Given the description of an element on the screen output the (x, y) to click on. 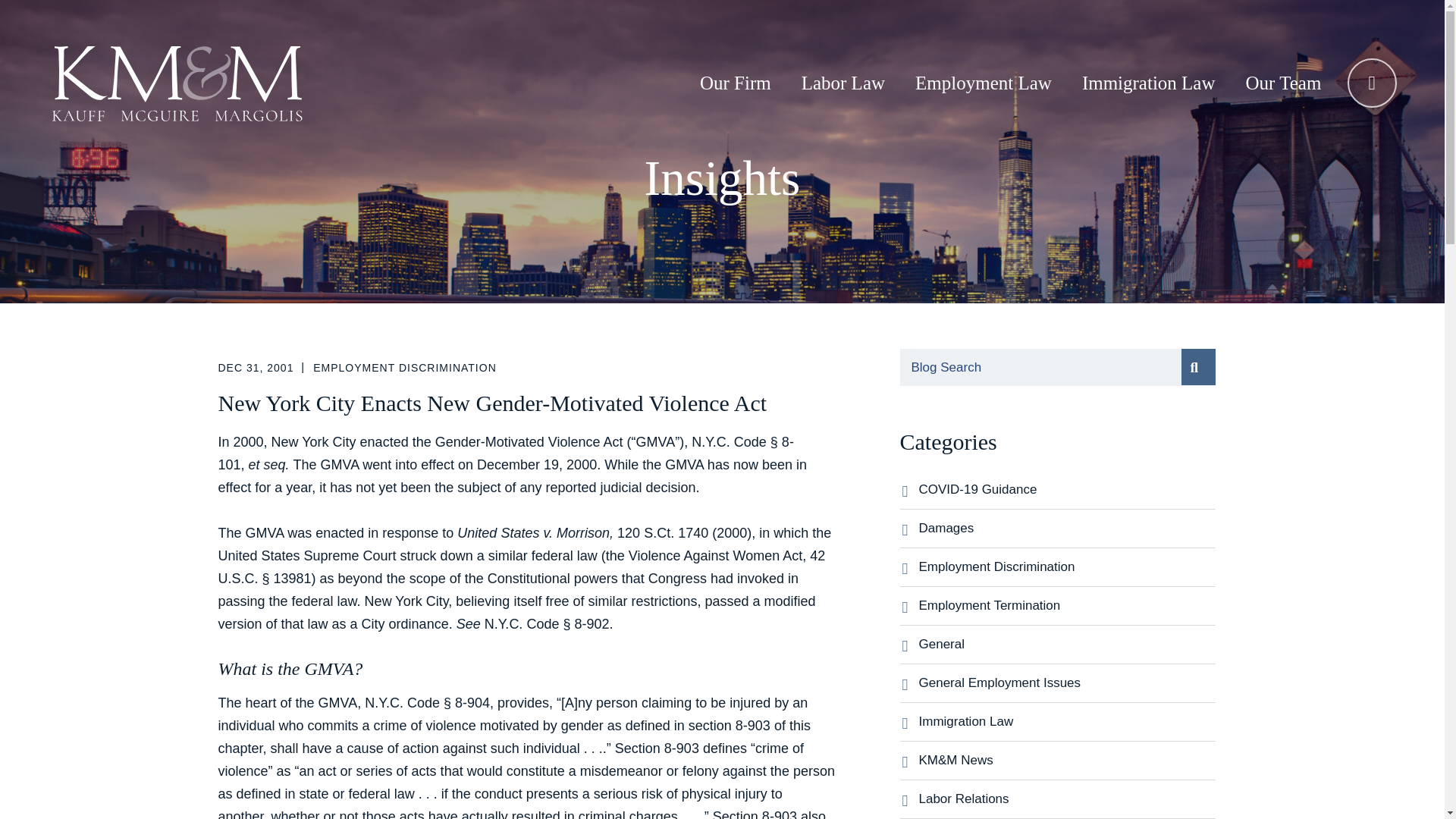
OPEN MENU (1372, 82)
Our Team (1282, 82)
EMPLOYMENT DISCRIMINATION (404, 367)
Labor Law (842, 82)
Employment Law (983, 82)
Immigration Law (1149, 82)
Damages (1066, 528)
Our Firm (734, 82)
COVID-19 Guidance (1066, 489)
